Given the description of an element on the screen output the (x, y) to click on. 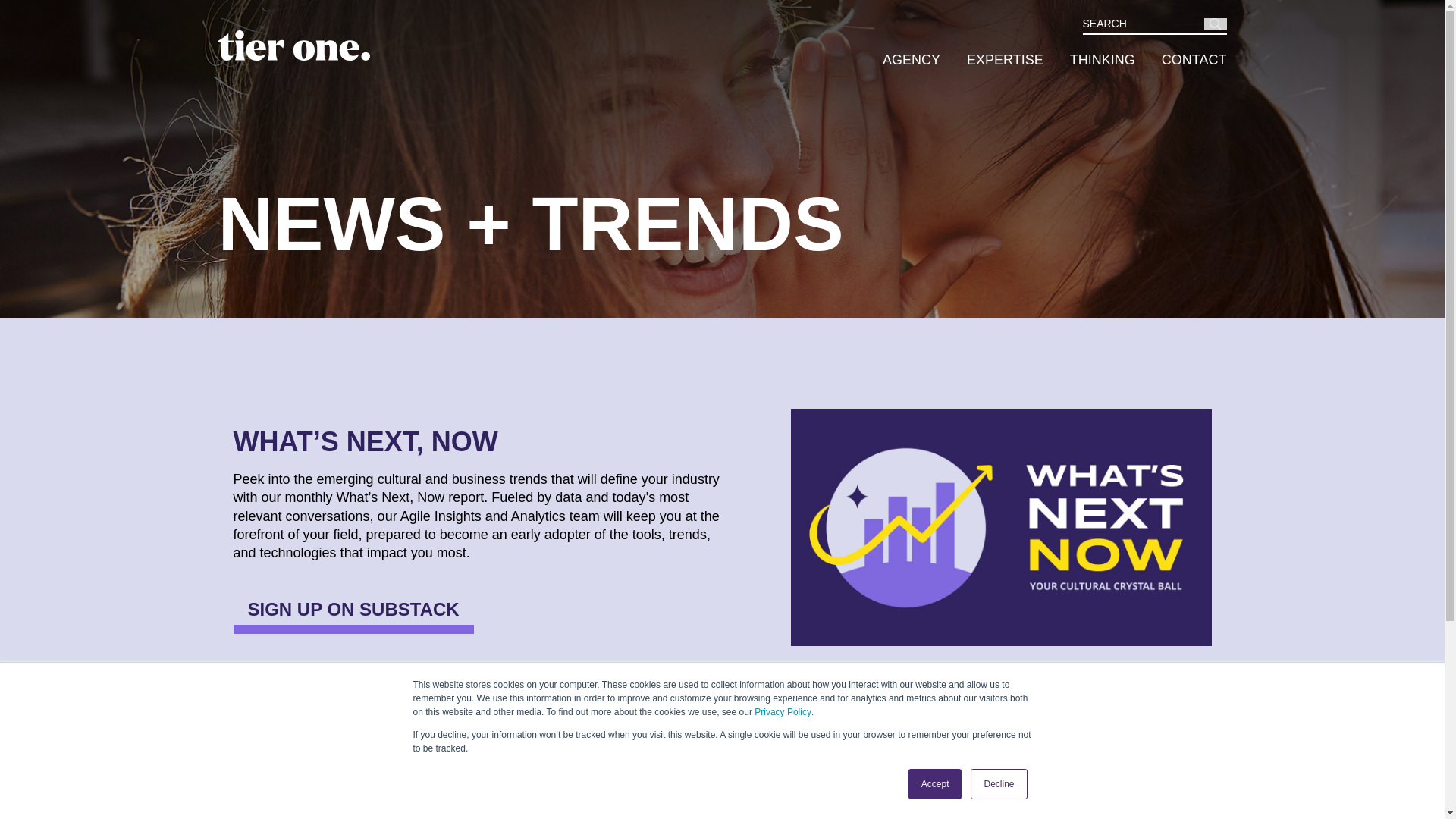
CAREERS (1082, 810)
CONTACT (1186, 810)
THINKING (1089, 63)
Decline (998, 784)
AGENCY (898, 63)
EXPERTISE (991, 63)
SIGN UP ON SUBSTACK (353, 609)
CONTACT (1181, 63)
Accept (935, 784)
Privacy Policy (782, 712)
